Given the description of an element on the screen output the (x, y) to click on. 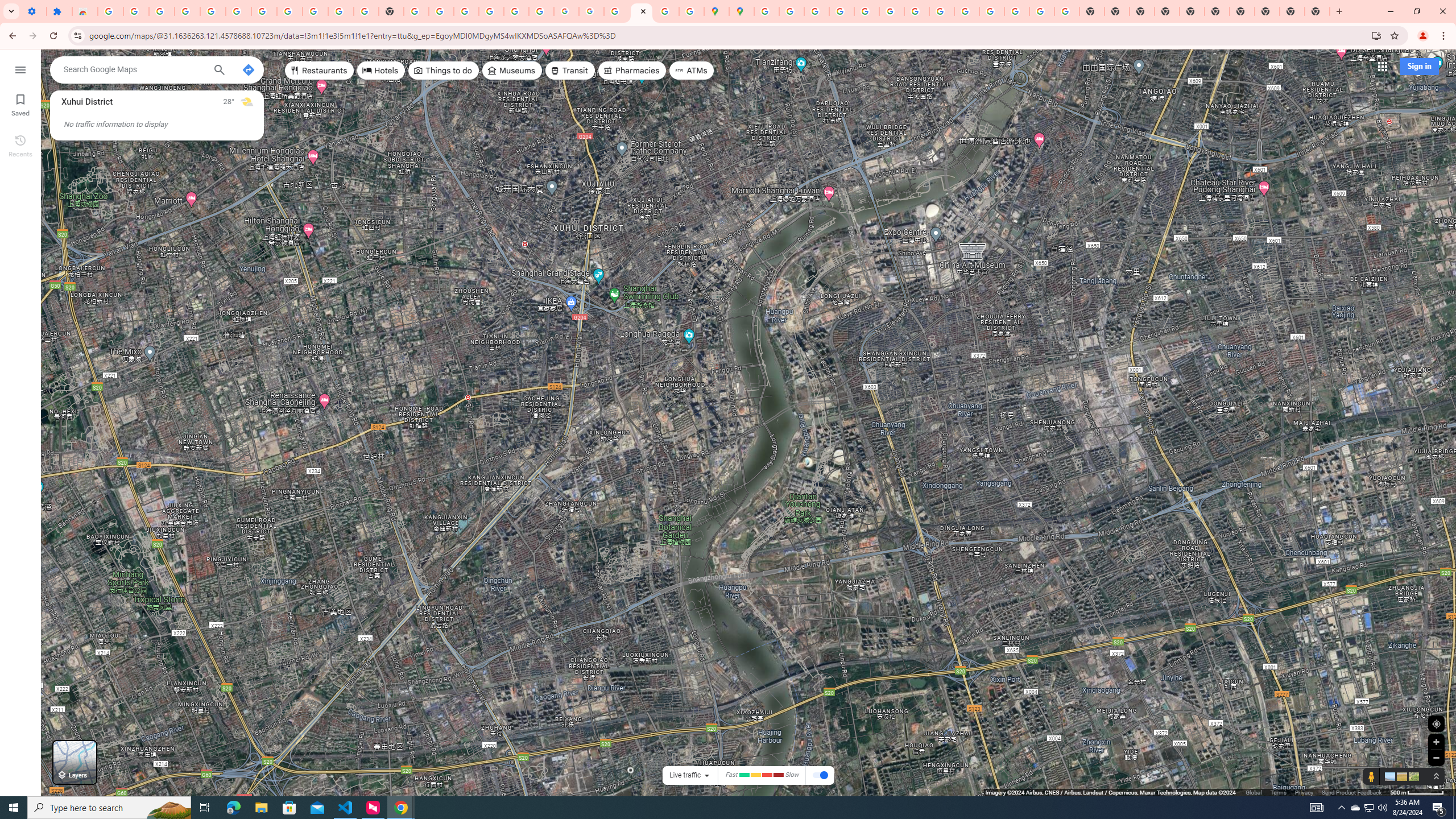
Sign in - Google Accounts (264, 11)
Privacy Help Center - Policies Help (841, 11)
Recents (20, 145)
Transit (569, 70)
Museums (511, 70)
Privacy Help Center - Policies Help (816, 11)
500 m (1417, 792)
YouTube (916, 11)
